Given the description of an element on the screen output the (x, y) to click on. 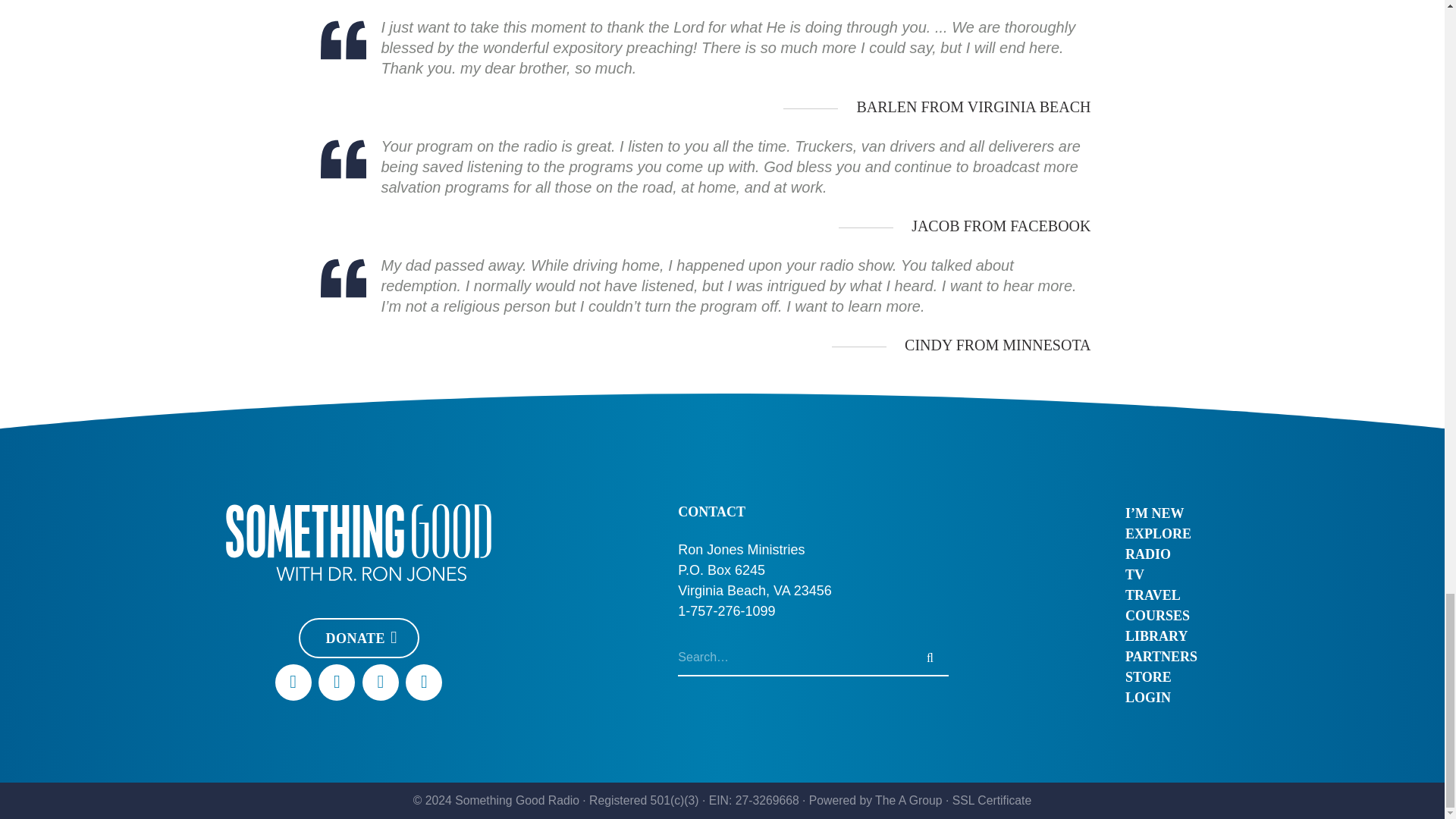
COURSES (1160, 616)
RADIO (1160, 554)
TRAVEL (1160, 595)
SSL Certificate (991, 799)
TV (1160, 575)
EXPLORE (1160, 534)
LIBRARY (1160, 636)
DONATE (358, 638)
Instagram (380, 682)
SEARCH (930, 657)
LOGIN (1160, 697)
PARTNERS (1160, 657)
Powered by The A Group (875, 799)
RSS (424, 682)
STORE (1160, 677)
